Given the description of an element on the screen output the (x, y) to click on. 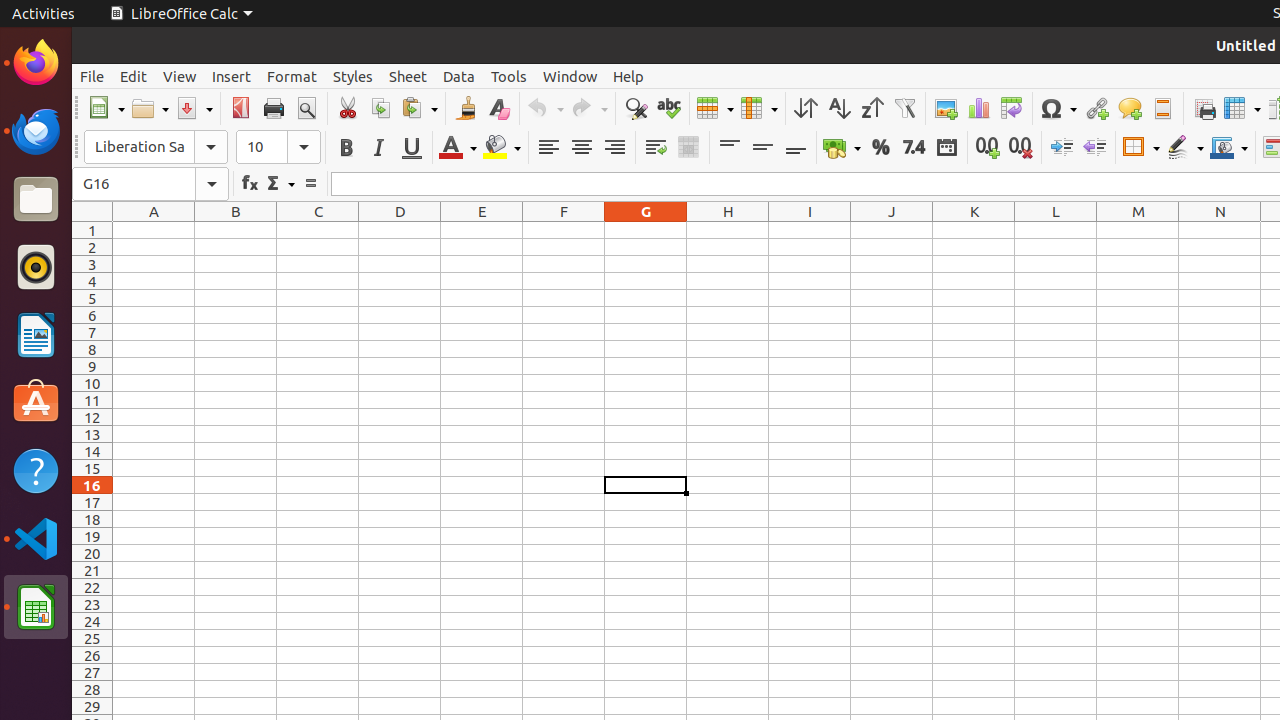
F1 Element type: table-cell (564, 230)
Pivot Table Element type: push-button (1011, 108)
Redo Element type: push-button (589, 108)
Align Left Element type: push-button (548, 147)
Clear Element type: push-button (498, 108)
